Given the description of an element on the screen output the (x, y) to click on. 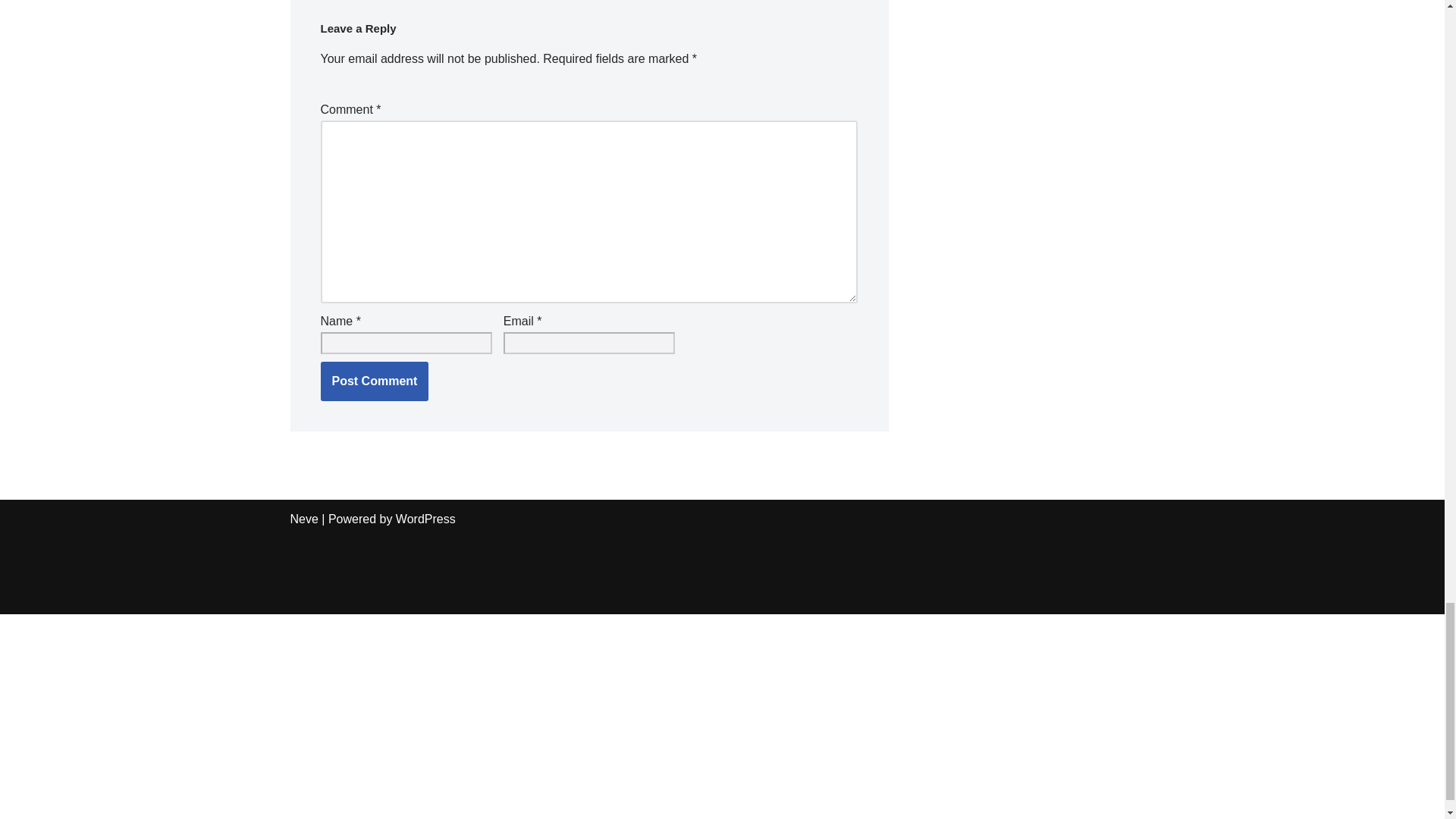
Post Comment (374, 381)
